Given the description of an element on the screen output the (x, y) to click on. 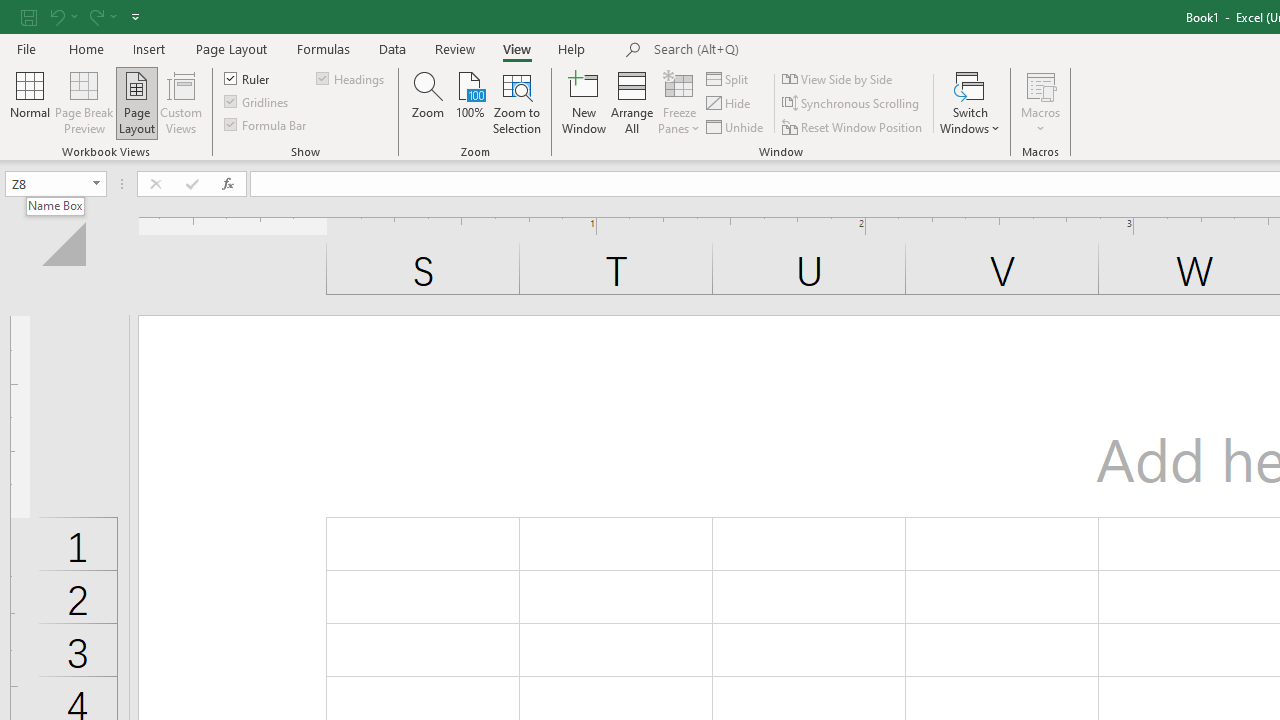
Zoom... (428, 102)
Gridlines (257, 101)
100% (470, 102)
Headings (351, 78)
Freeze Panes (678, 102)
Switch Windows (970, 102)
Zoom to Selection (517, 102)
Split (728, 78)
